Given the description of an element on the screen output the (x, y) to click on. 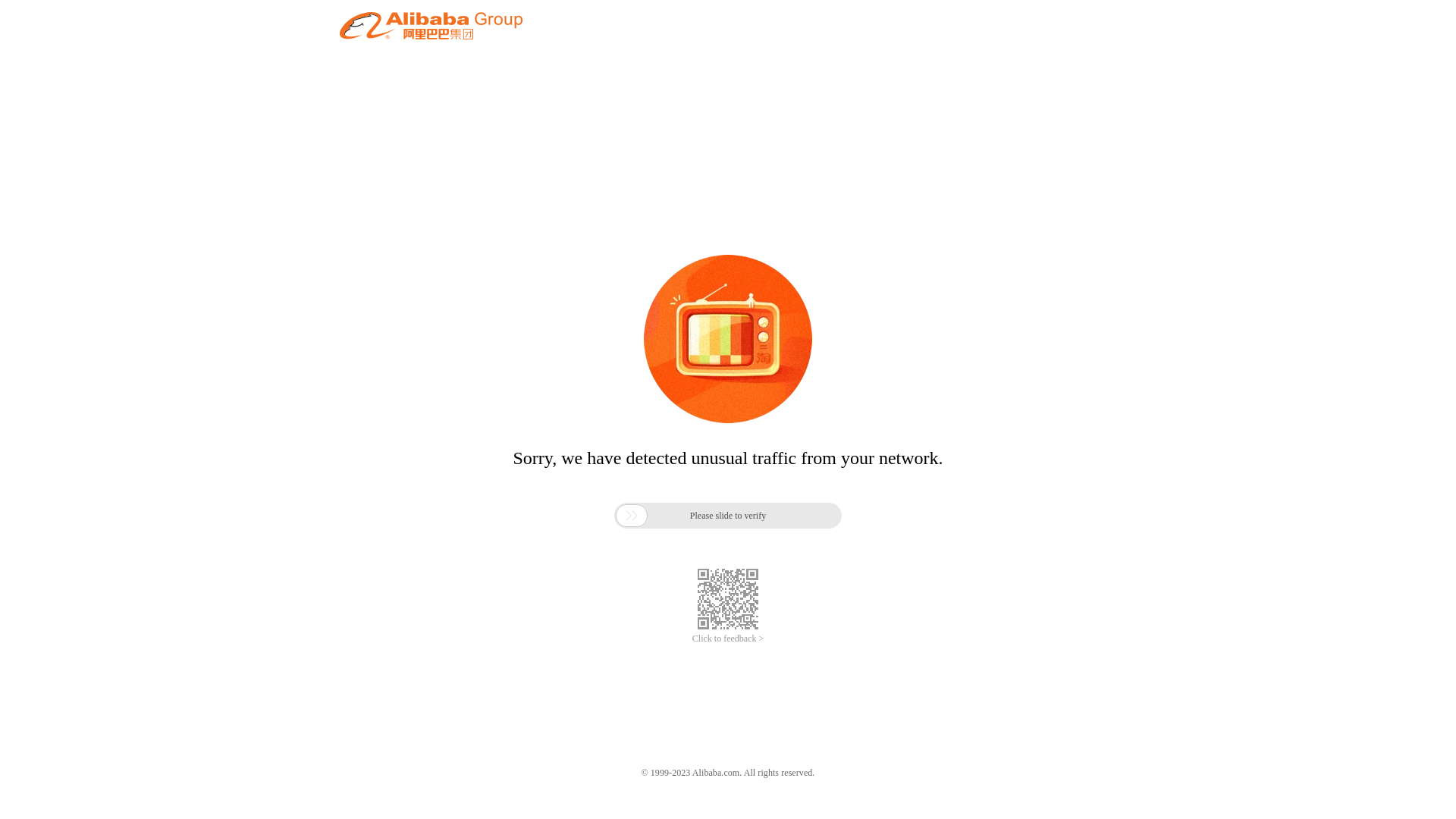
Click to feedback > Element type: text (727, 638)
